Given the description of an element on the screen output the (x, y) to click on. 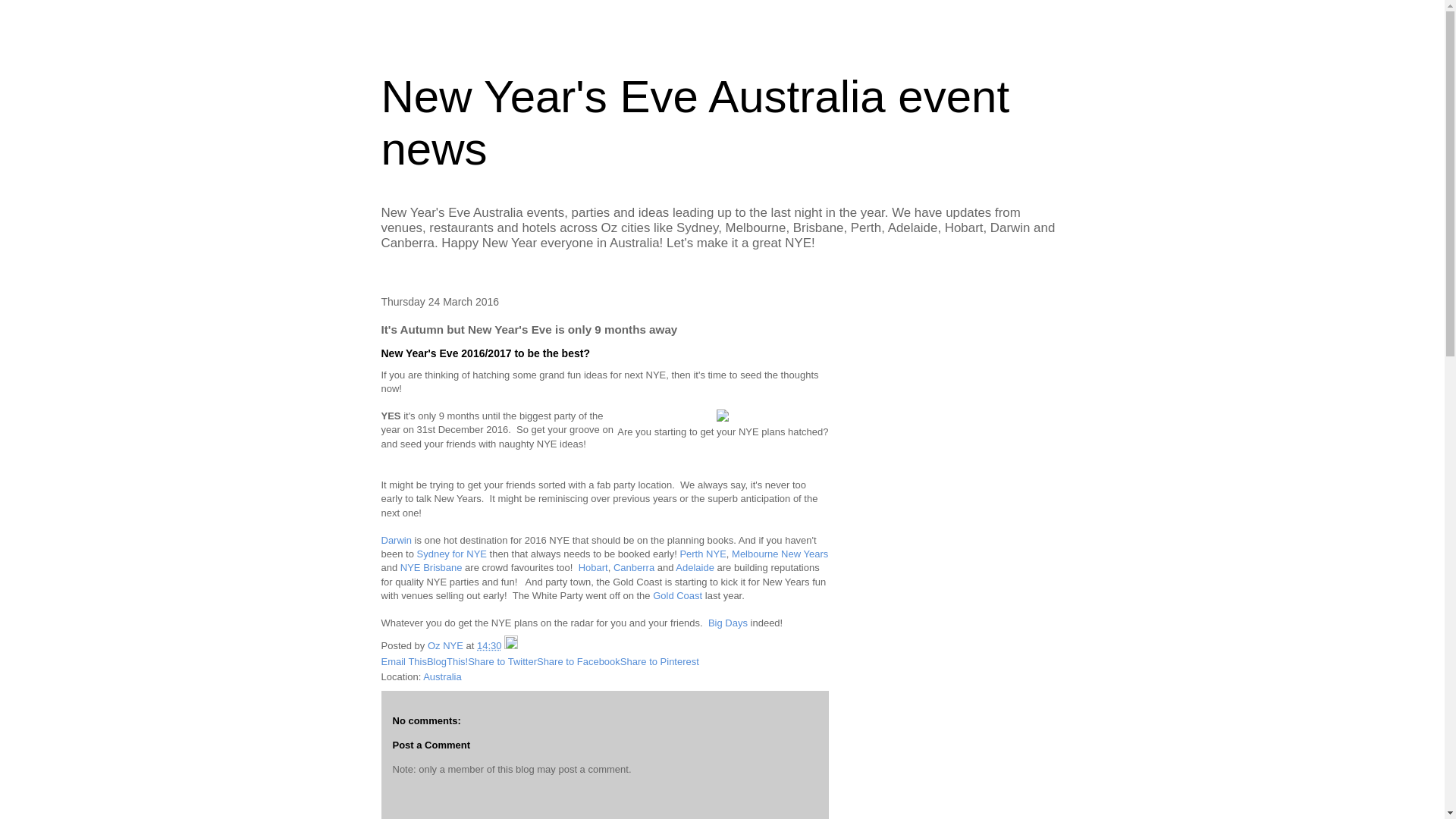
BlogThis! Element type: text (446, 661)
NYE Brisbane Element type: text (431, 567)
14:30 Element type: text (489, 645)
New Year's Eve Australia event news Element type: text (694, 122)
Share to Facebook Element type: text (578, 661)
Oz NYE Element type: text (446, 645)
Melbourne New Years Element type: text (779, 553)
Big Days Element type: text (727, 622)
Adelaide Element type: text (694, 567)
Share to Pinterest Element type: text (659, 661)
Darwin Element type: text (395, 540)
Perth NYE Element type: text (702, 553)
Email This Element type: text (403, 661)
Share to Twitter Element type: text (501, 661)
Edit Post Element type: hover (510, 645)
Gold Coast Element type: text (677, 595)
Sydney for NYE Element type: text (452, 553)
Australia Element type: text (442, 676)
Hobart Element type: text (593, 567)
Canberra Element type: text (633, 567)
